Given the description of an element on the screen output the (x, y) to click on. 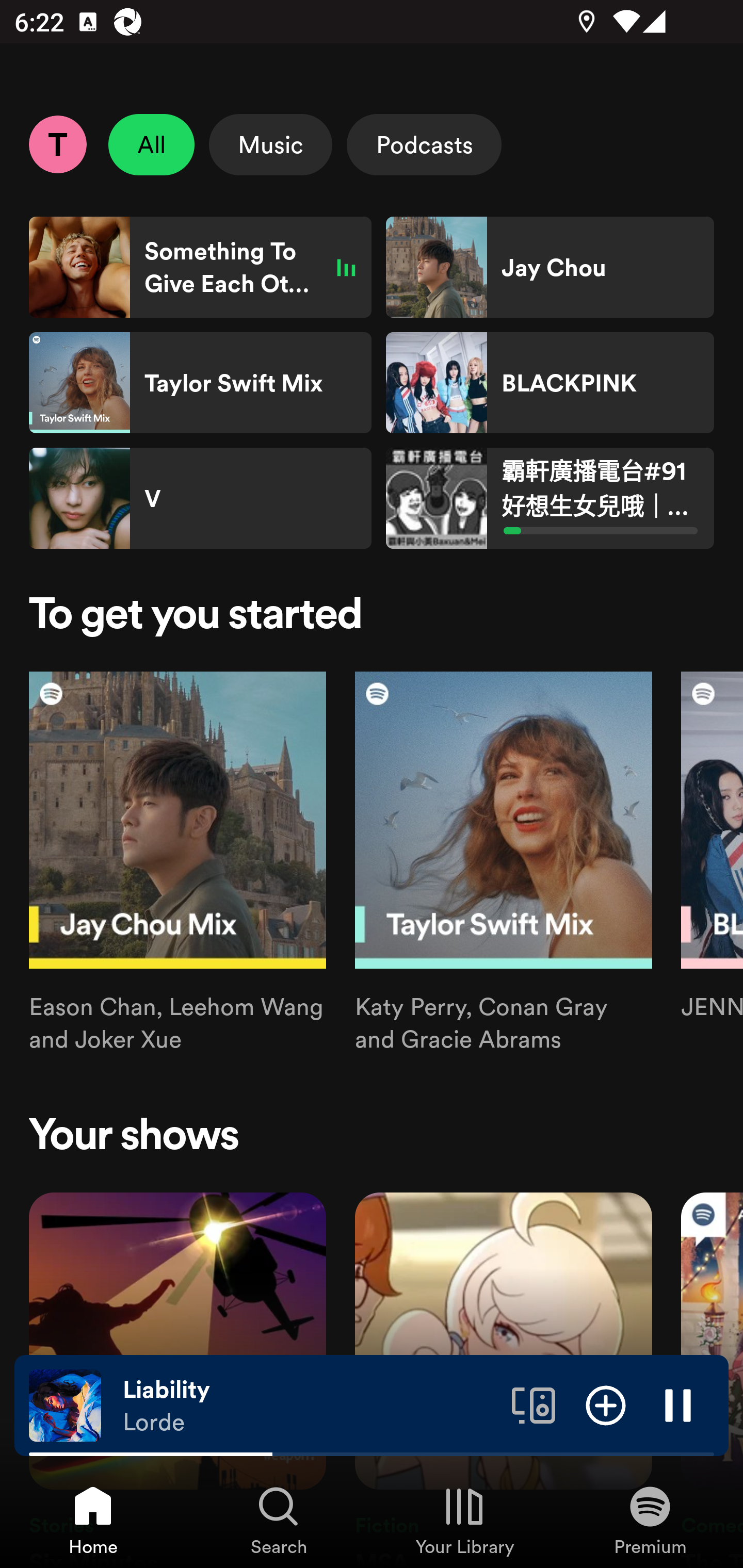
Profile (57, 144)
All Unselect All (151, 144)
Music Select Music (270, 144)
Podcasts Select Podcasts (423, 144)
Jay Chou Shortcut Jay Chou (549, 267)
Taylor Swift Mix Shortcut Taylor Swift Mix (199, 382)
BLACKPINK Shortcut BLACKPINK (549, 382)
V Shortcut V (199, 498)
Liability Lorde (309, 1405)
The cover art of the currently playing track (64, 1404)
Connect to a device. Opens the devices menu (533, 1404)
Add item (605, 1404)
Pause (677, 1404)
Home, Tab 1 of 4 Home Home (92, 1519)
Search, Tab 2 of 4 Search Search (278, 1519)
Your Library, Tab 3 of 4 Your Library Your Library (464, 1519)
Premium, Tab 4 of 4 Premium Premium (650, 1519)
